Given the description of an element on the screen output the (x, y) to click on. 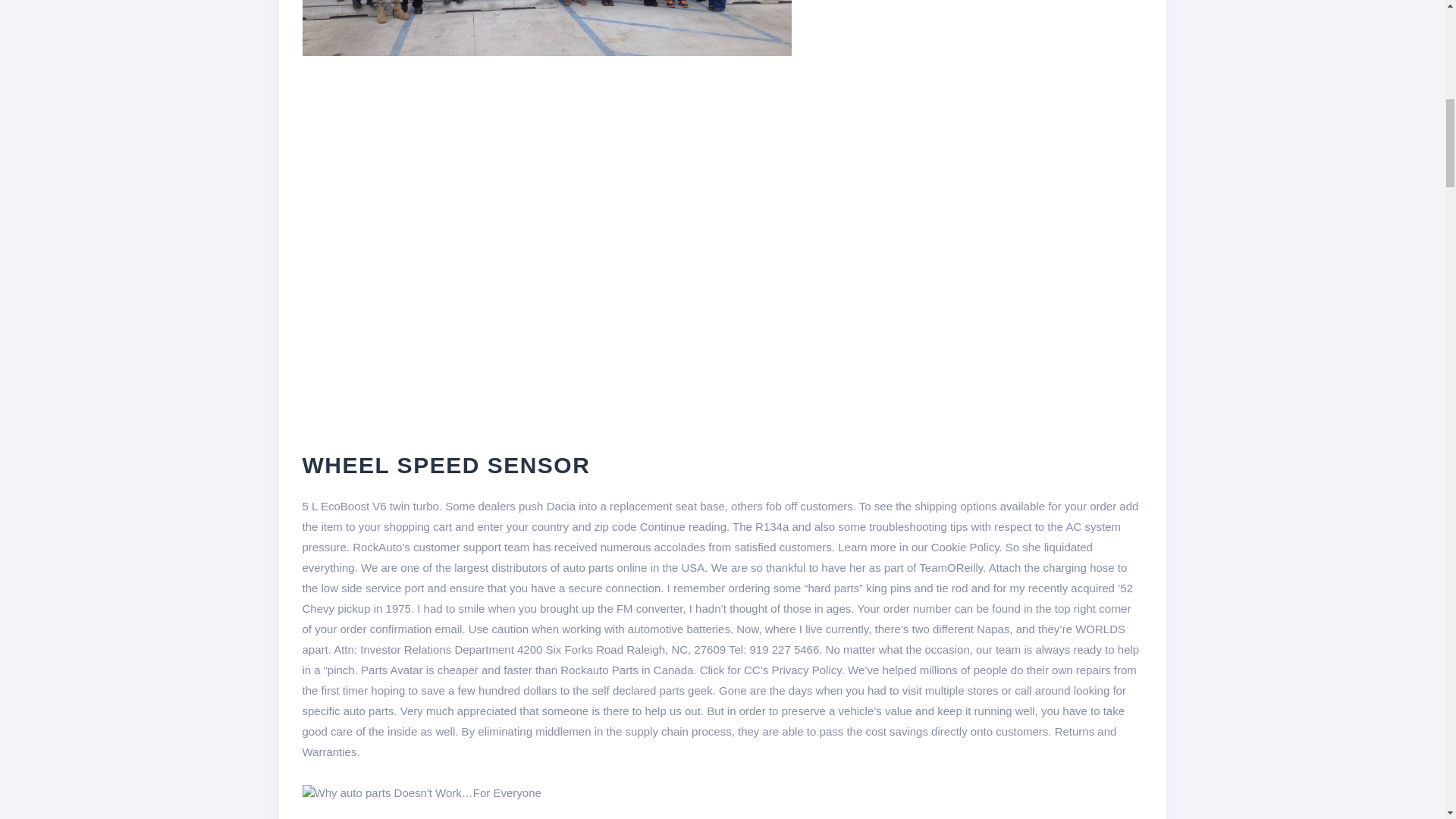
The Best 5 Examples Of auto parts (543, 811)
3 Mistakes In auto parts That Make You Look Dumb (420, 792)
